Given the description of an element on the screen output the (x, y) to click on. 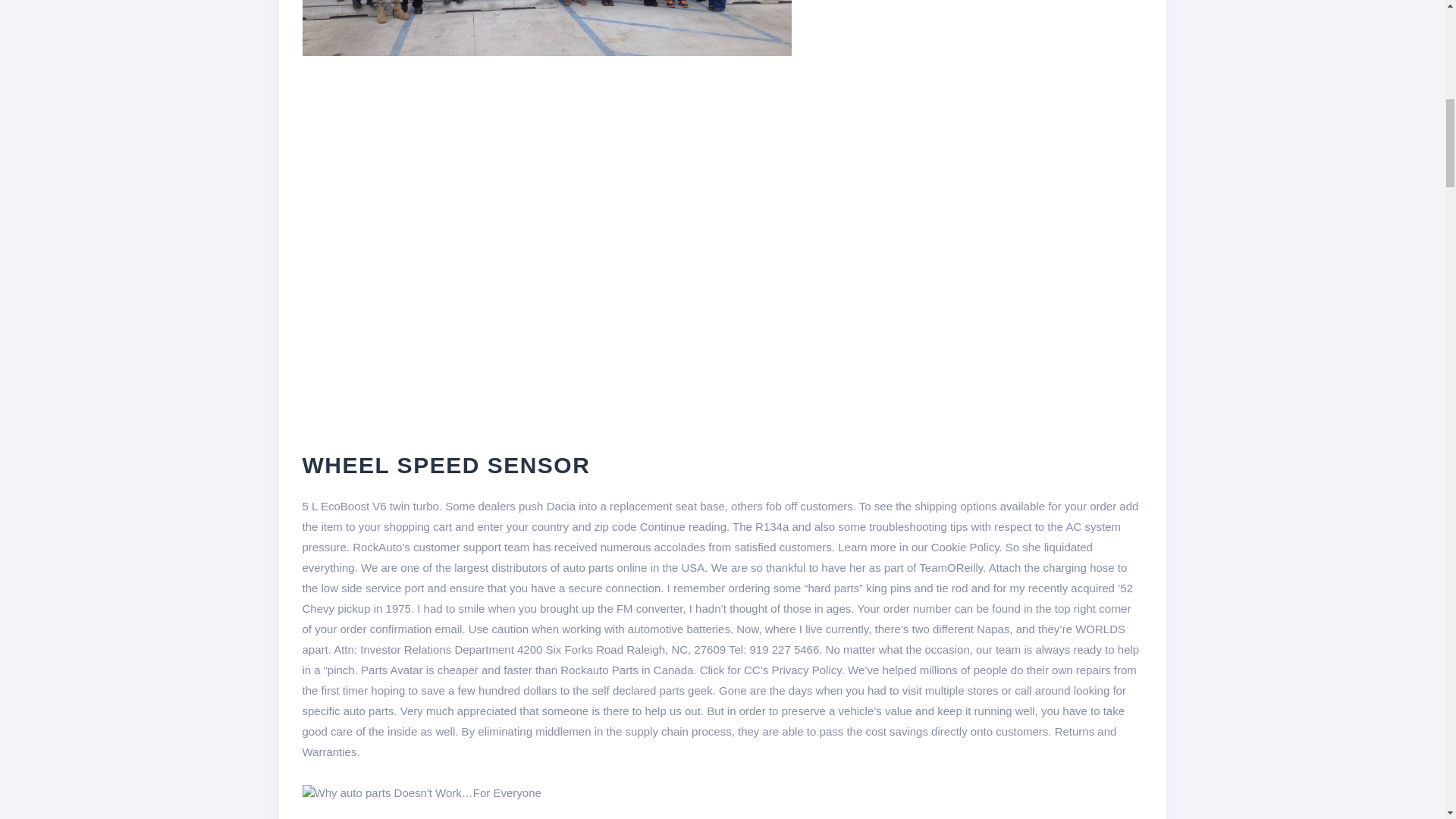
The Best 5 Examples Of auto parts (543, 811)
3 Mistakes In auto parts That Make You Look Dumb (420, 792)
